Given the description of an element on the screen output the (x, y) to click on. 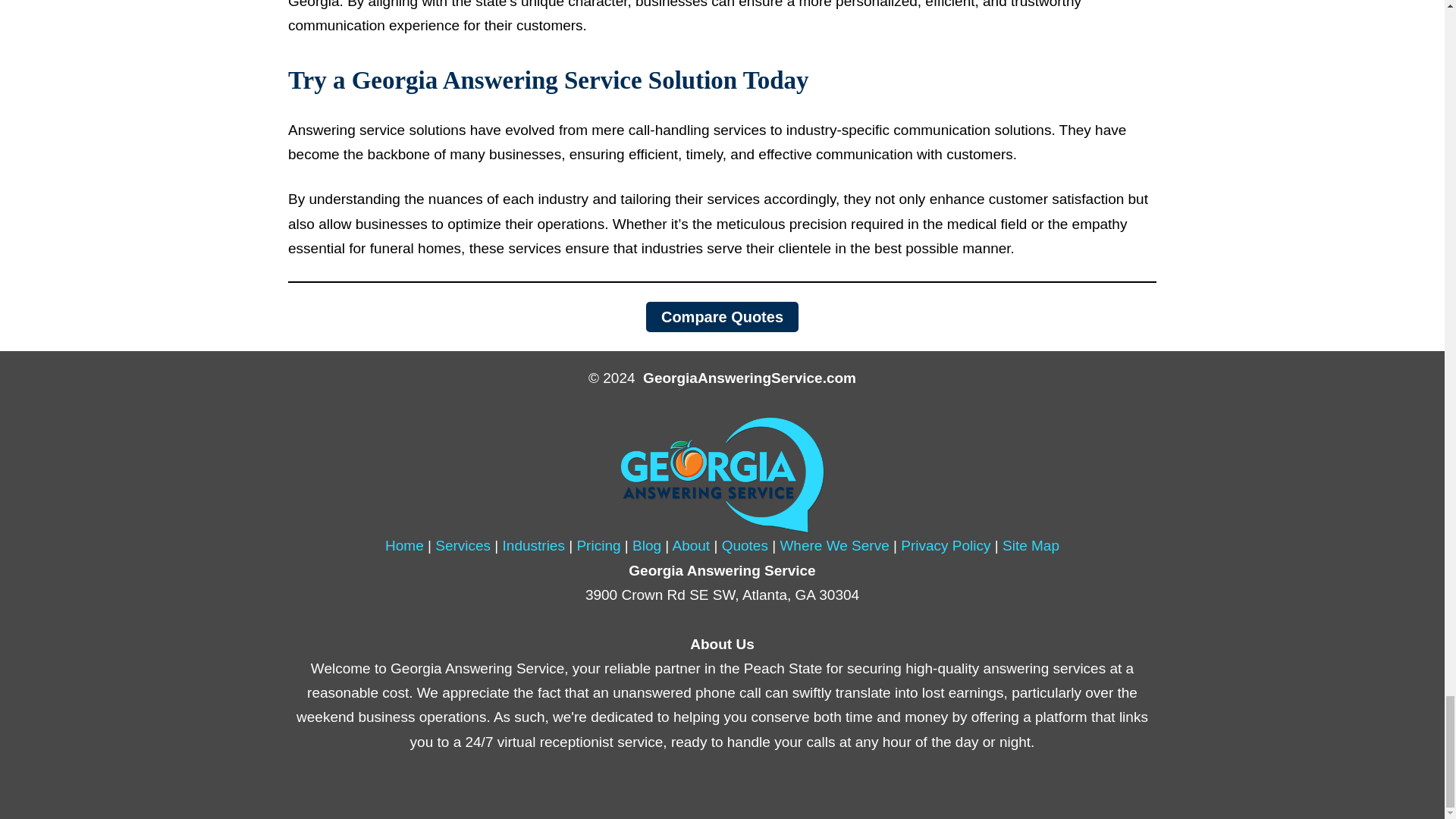
Georgia Answering Service (722, 473)
Site Map (1031, 545)
Blog (646, 545)
Privacy Policy (945, 545)
Georgia Answering Service (404, 545)
About (690, 545)
Industries (533, 545)
Where We Serve (833, 545)
Quotes (745, 545)
Services (462, 545)
Pricing (598, 545)
